Given the description of an element on the screen output the (x, y) to click on. 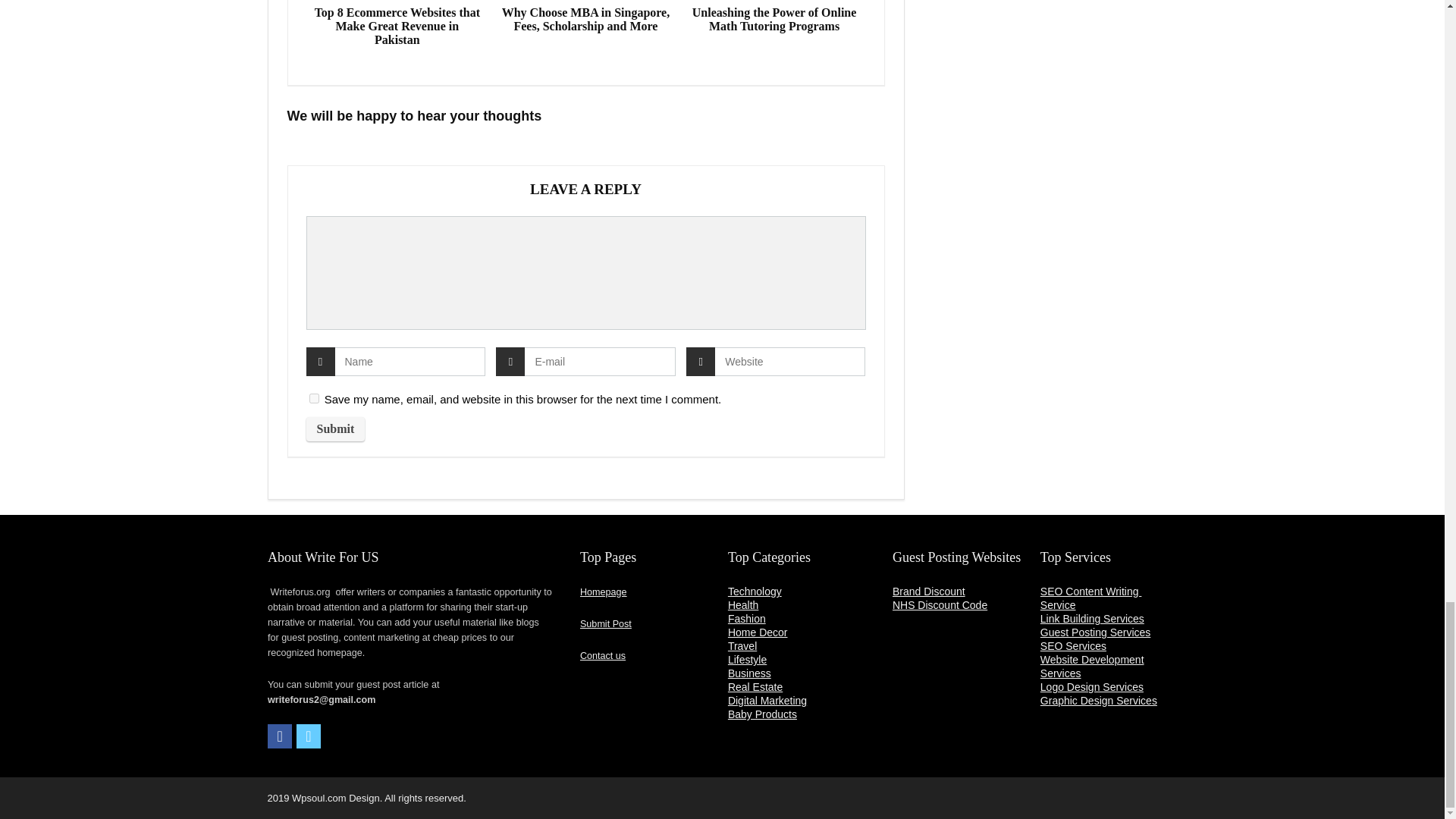
Submit (335, 428)
Top 8 Ecommerce Websites that Make Great Revenue in Pakistan (397, 25)
Why Choose MBA in Singapore, Fees, Scholarship and More (584, 19)
Unleashing the Power of Online Math Tutoring Programs (774, 19)
yes (313, 398)
